Given the description of an element on the screen output the (x, y) to click on. 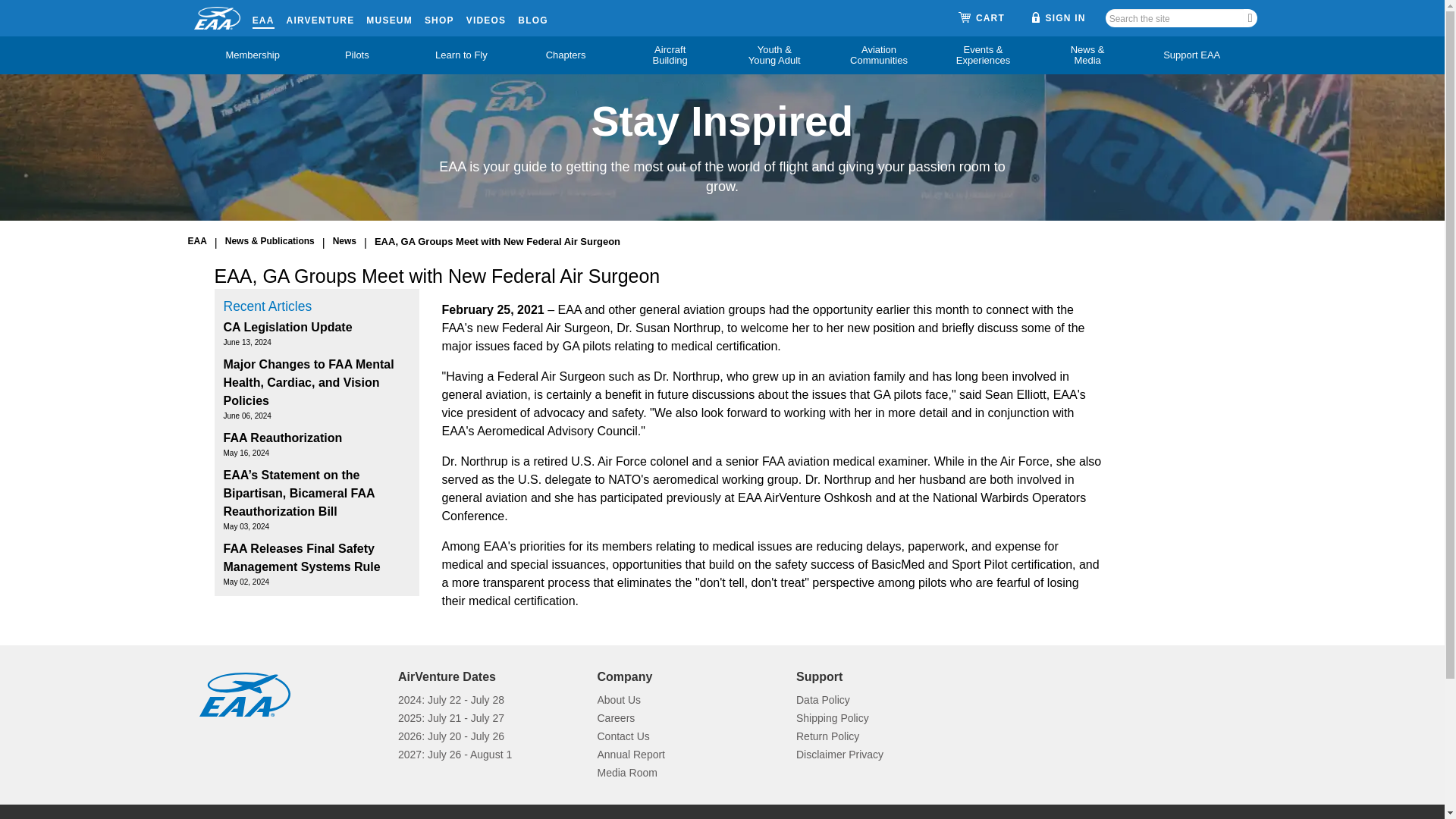
SHOP (439, 17)
EAA (263, 17)
CART (980, 18)
BLOG (532, 17)
MUSEUM (389, 17)
VIDEOS (485, 17)
SIGN IN (1059, 18)
AIRVENTURE (320, 17)
